Given the description of an element on the screen output the (x, y) to click on. 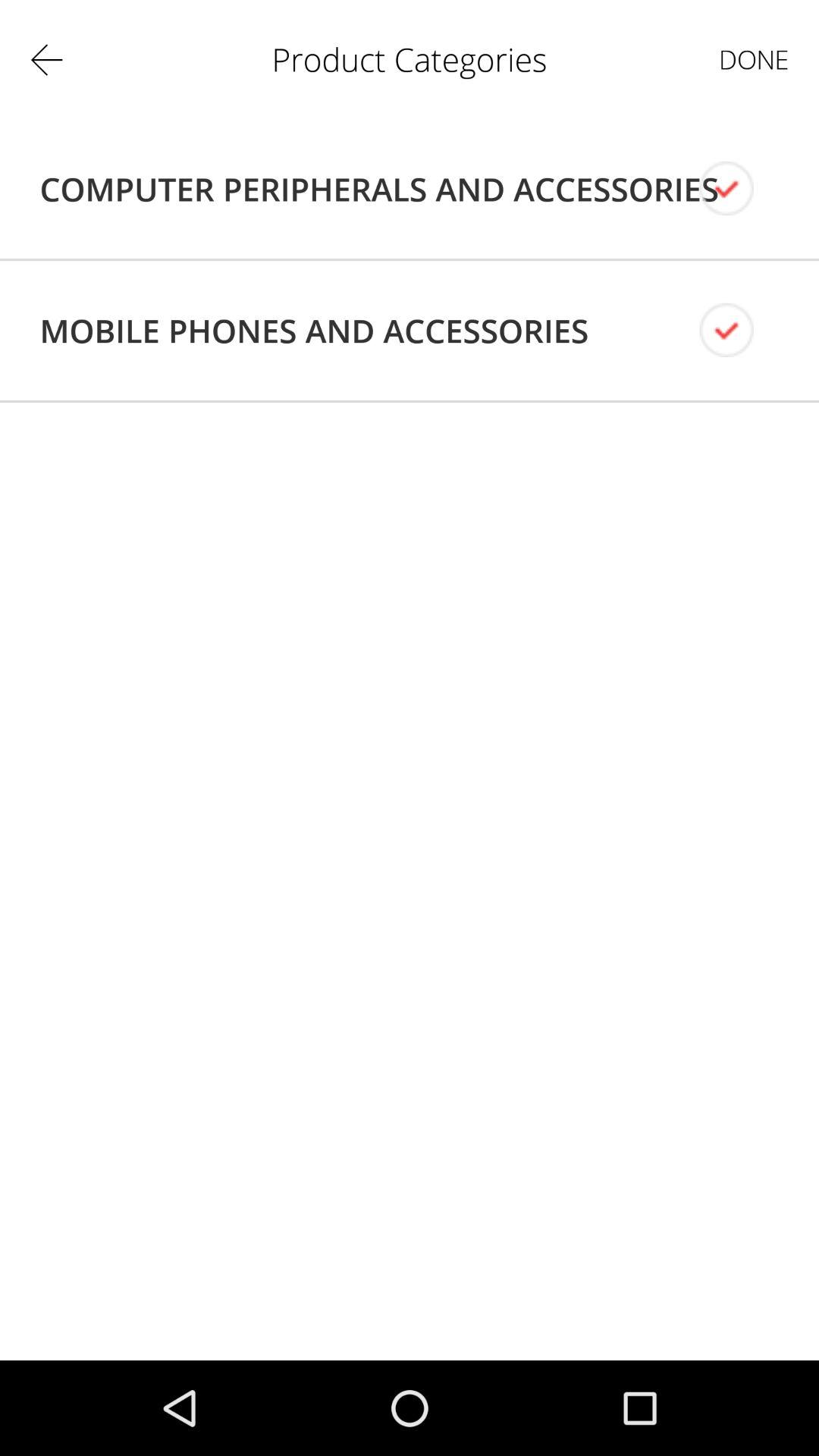
select mobile phones and (313, 330)
